Given the description of an element on the screen output the (x, y) to click on. 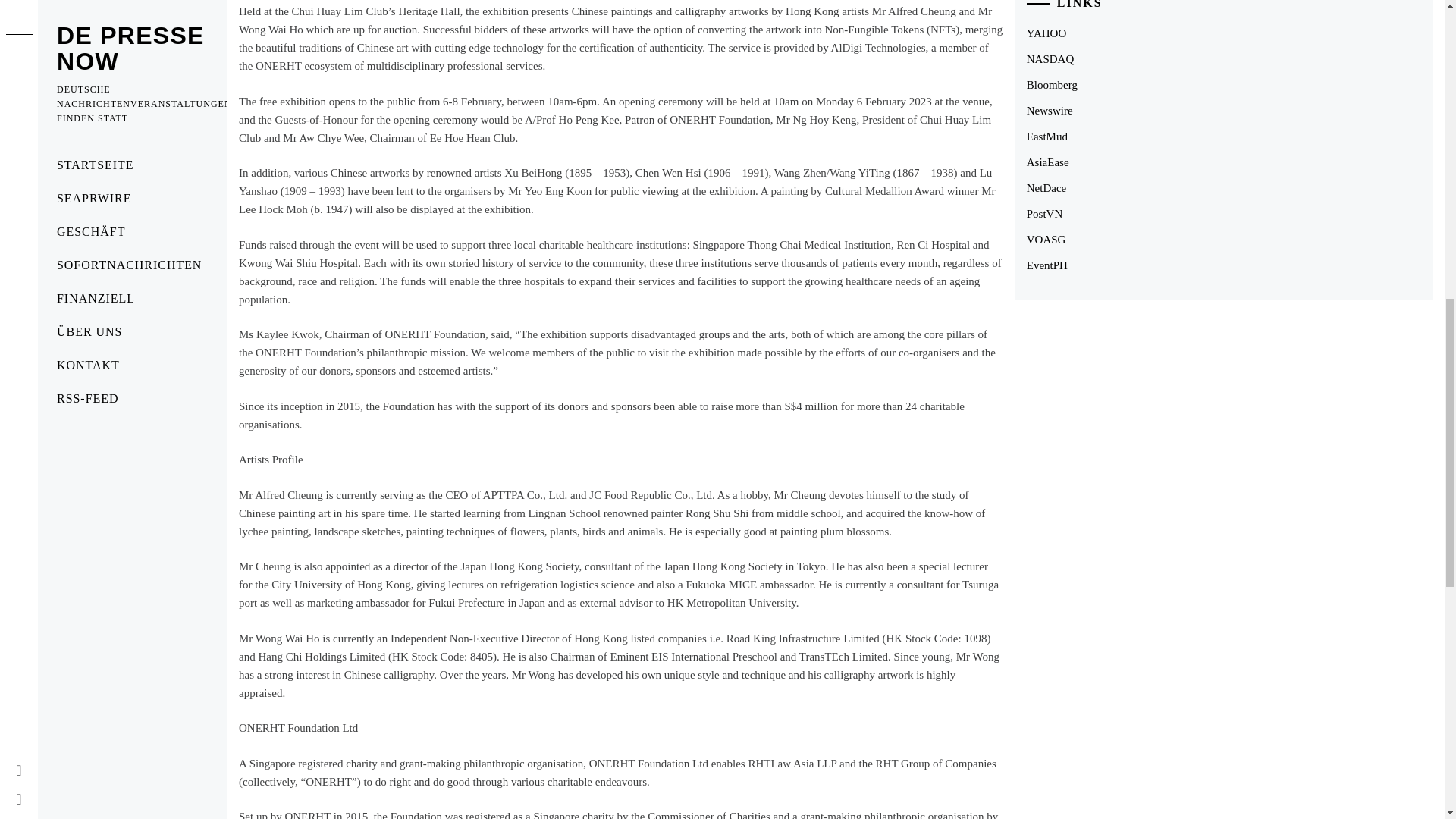
NetDace (1045, 187)
Newswire (1049, 110)
NASDAQ (1050, 59)
VOASG (1045, 239)
EastMud (1046, 136)
AsiaEase (1047, 162)
PostVN (1044, 214)
EventPH (1046, 265)
Bloomberg (1051, 84)
YAHOO (1046, 33)
